Given the description of an element on the screen output the (x, y) to click on. 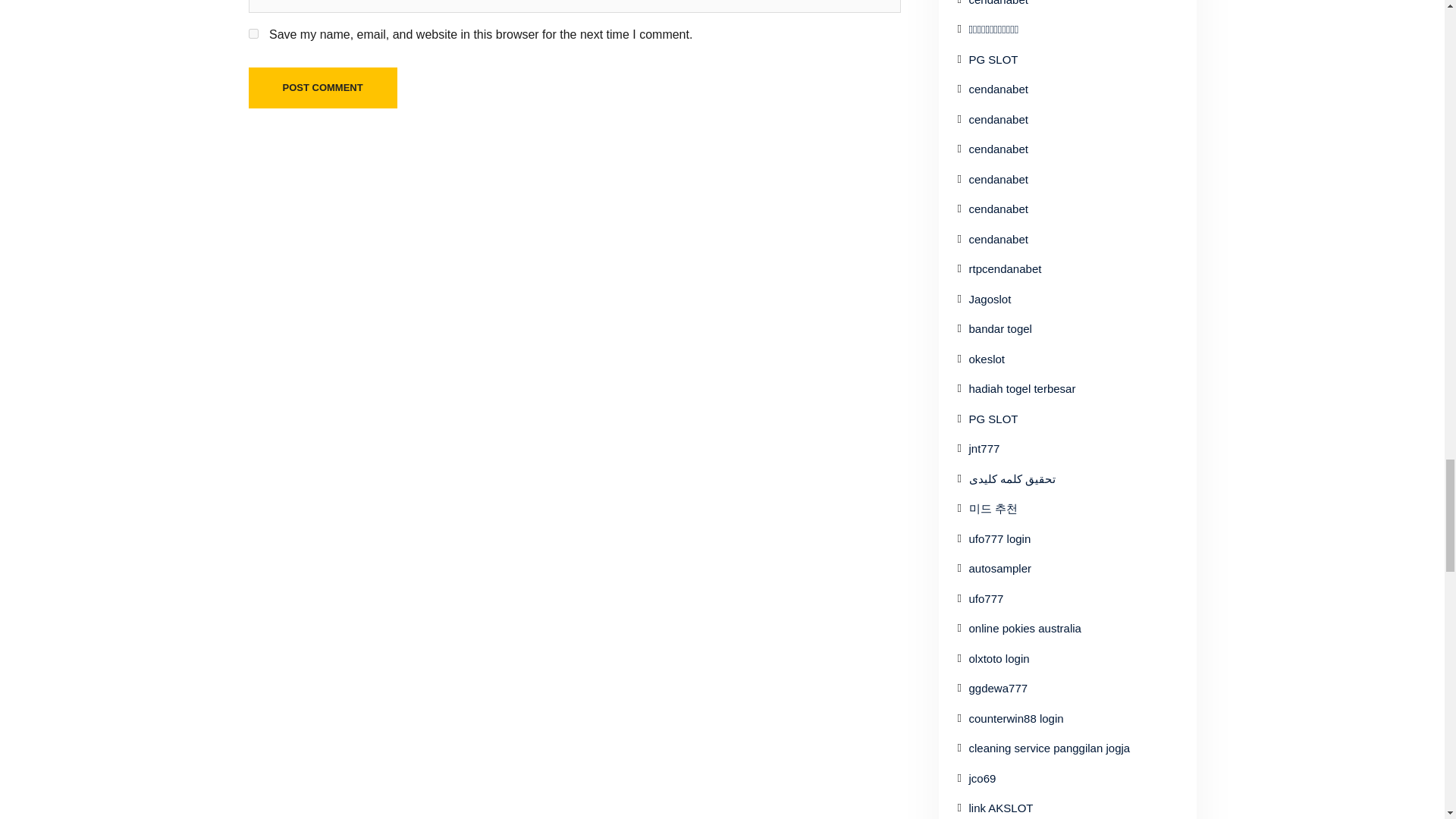
yes (253, 33)
Post Comment (322, 87)
Post Comment (322, 87)
